Given the description of an element on the screen output the (x, y) to click on. 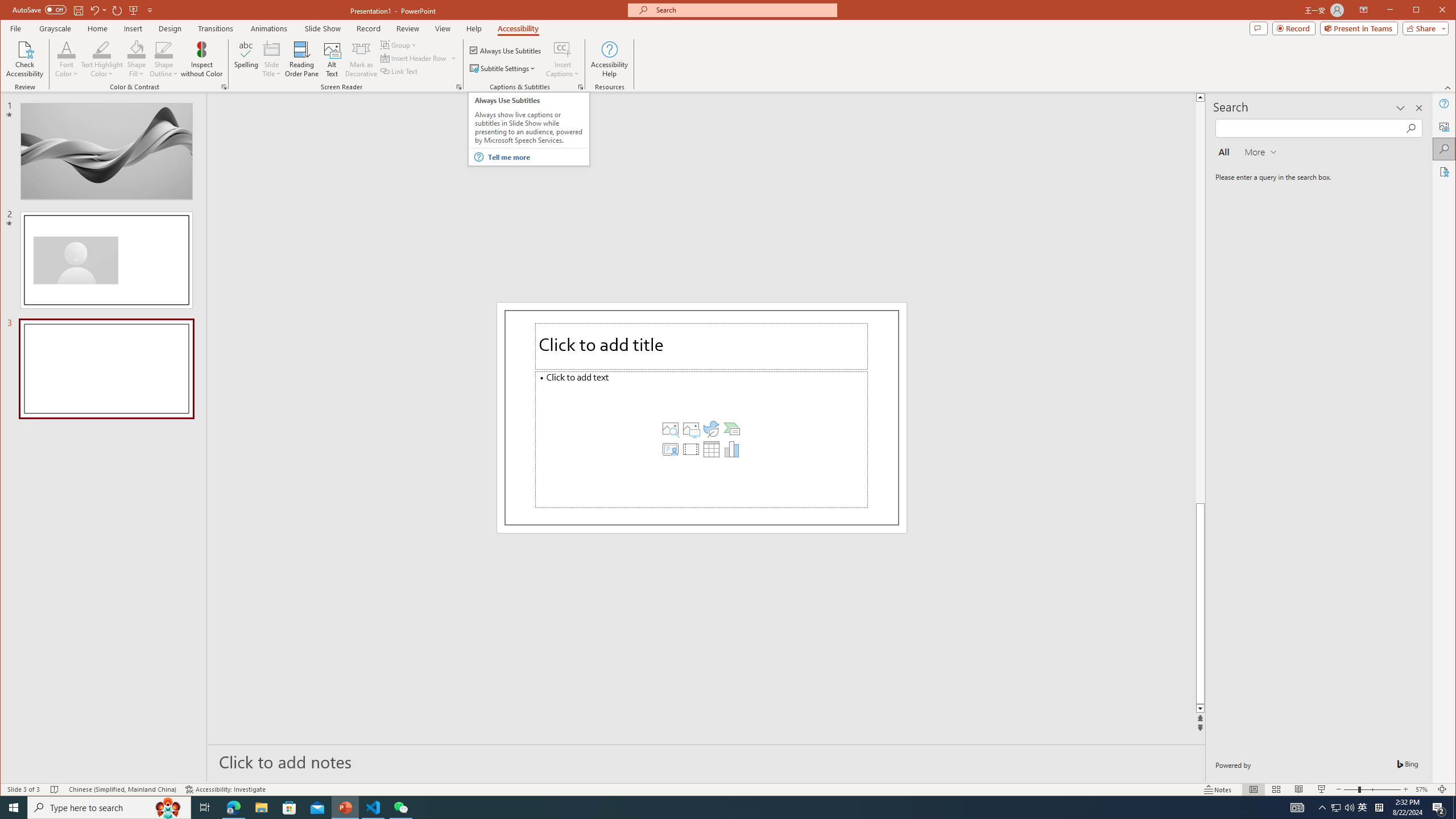
Insert Chart (731, 449)
Screen Reader (458, 86)
Slide Title (271, 48)
